Given the description of an element on the screen output the (x, y) to click on. 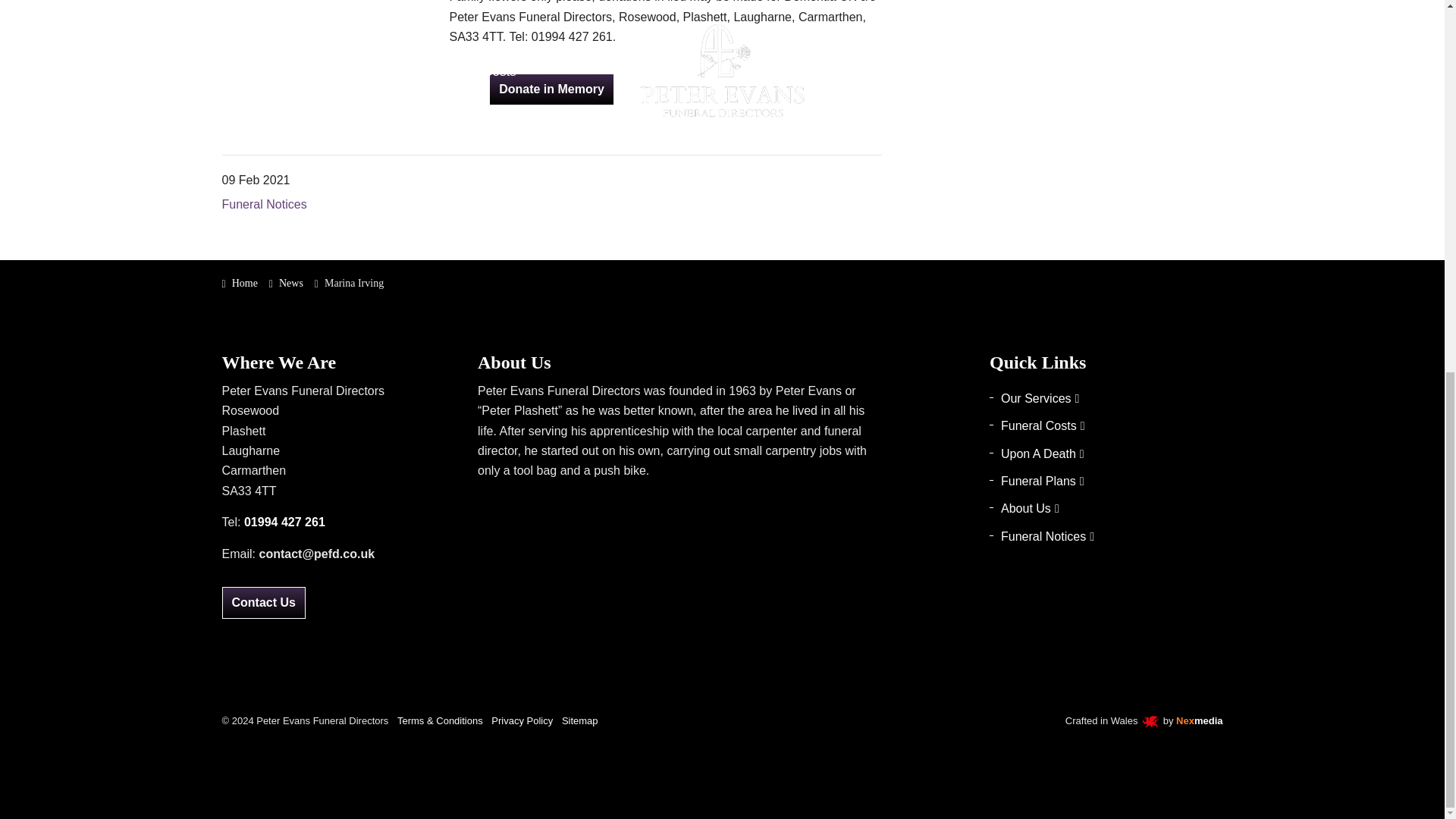
Sitemap (580, 720)
About Us (1106, 508)
Our Services (1106, 398)
Funeral Plans (1106, 481)
News (285, 282)
Home (239, 282)
Upon A Death (1106, 454)
Donate in Memory (551, 89)
Funeral Costs (1106, 425)
Nexmedia (1199, 720)
Funeral Notices (263, 204)
Funeral Notices (263, 204)
Privacy Policy (522, 720)
Funeral Notices (1106, 537)
